Given the description of an element on the screen output the (x, y) to click on. 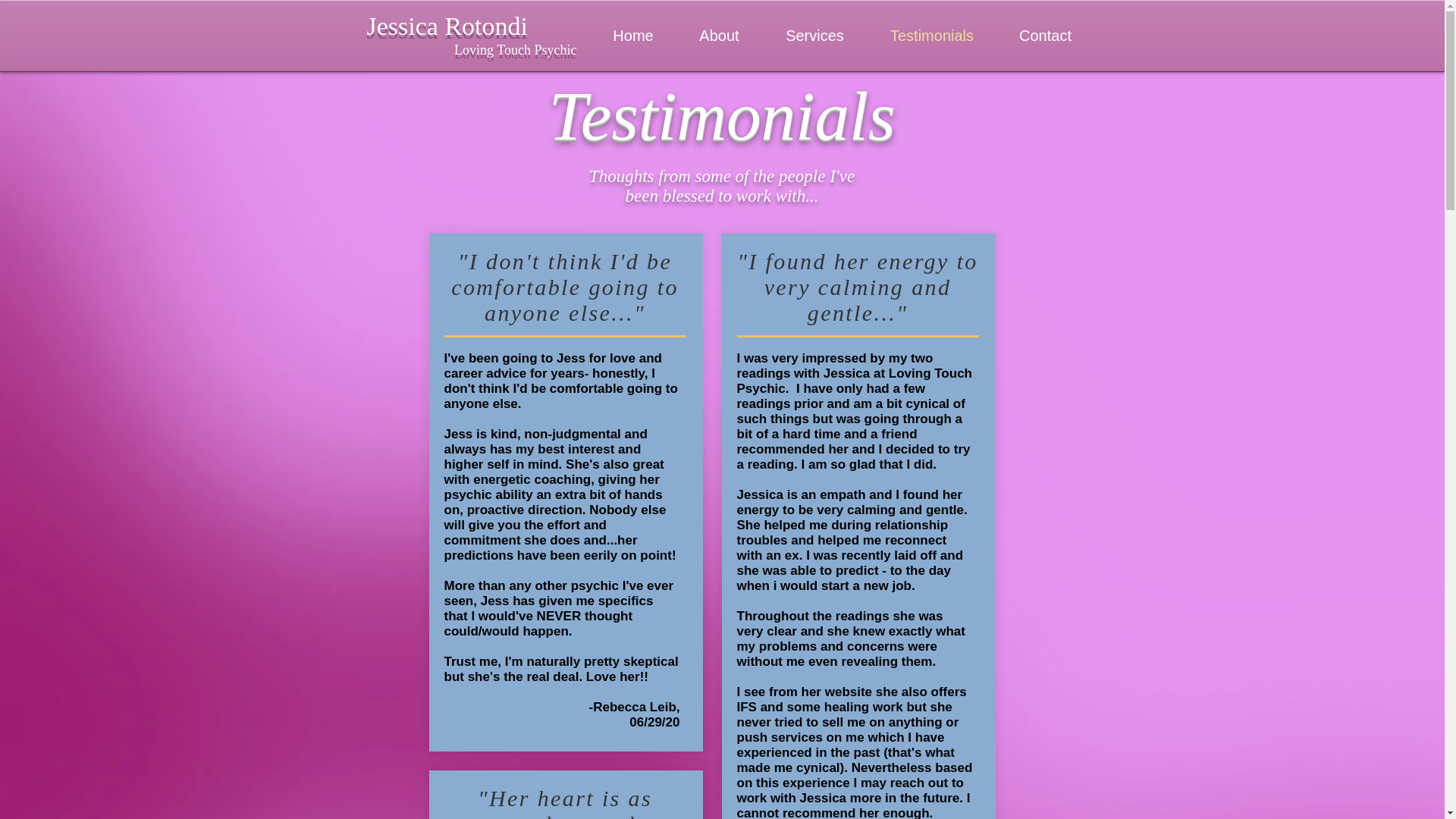
Services (814, 35)
Home (632, 35)
About (719, 35)
Contact (1044, 35)
Testimonials (932, 35)
